Given the description of an element on the screen output the (x, y) to click on. 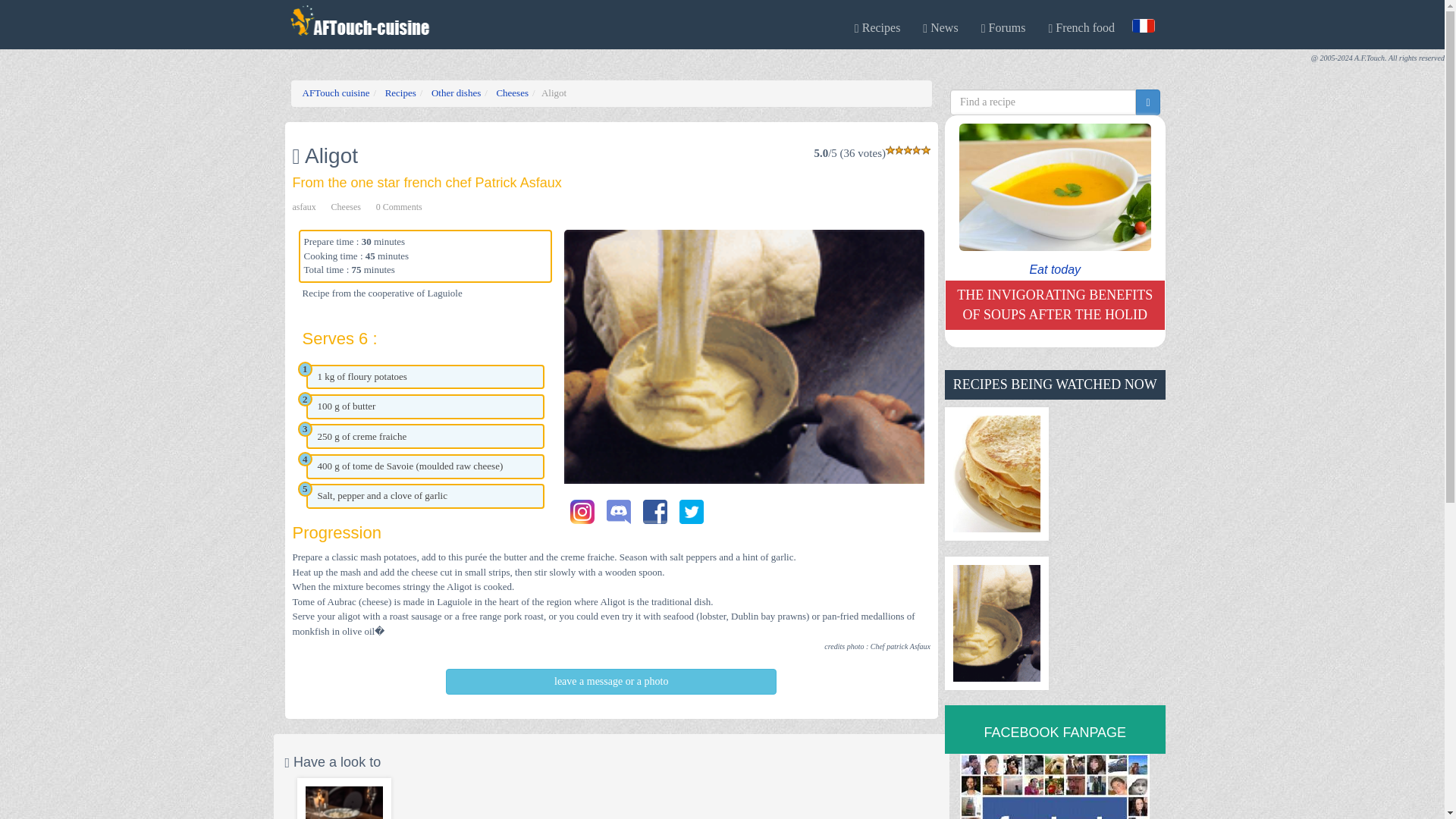
Forums (1002, 27)
0 Comments (398, 206)
Cheeses (346, 206)
AFTouch cuisine (335, 92)
Recipes (400, 92)
leave a message or a photo (610, 681)
Other dishes (455, 92)
French food (1080, 27)
News (940, 27)
